Given the description of an element on the screen output the (x, y) to click on. 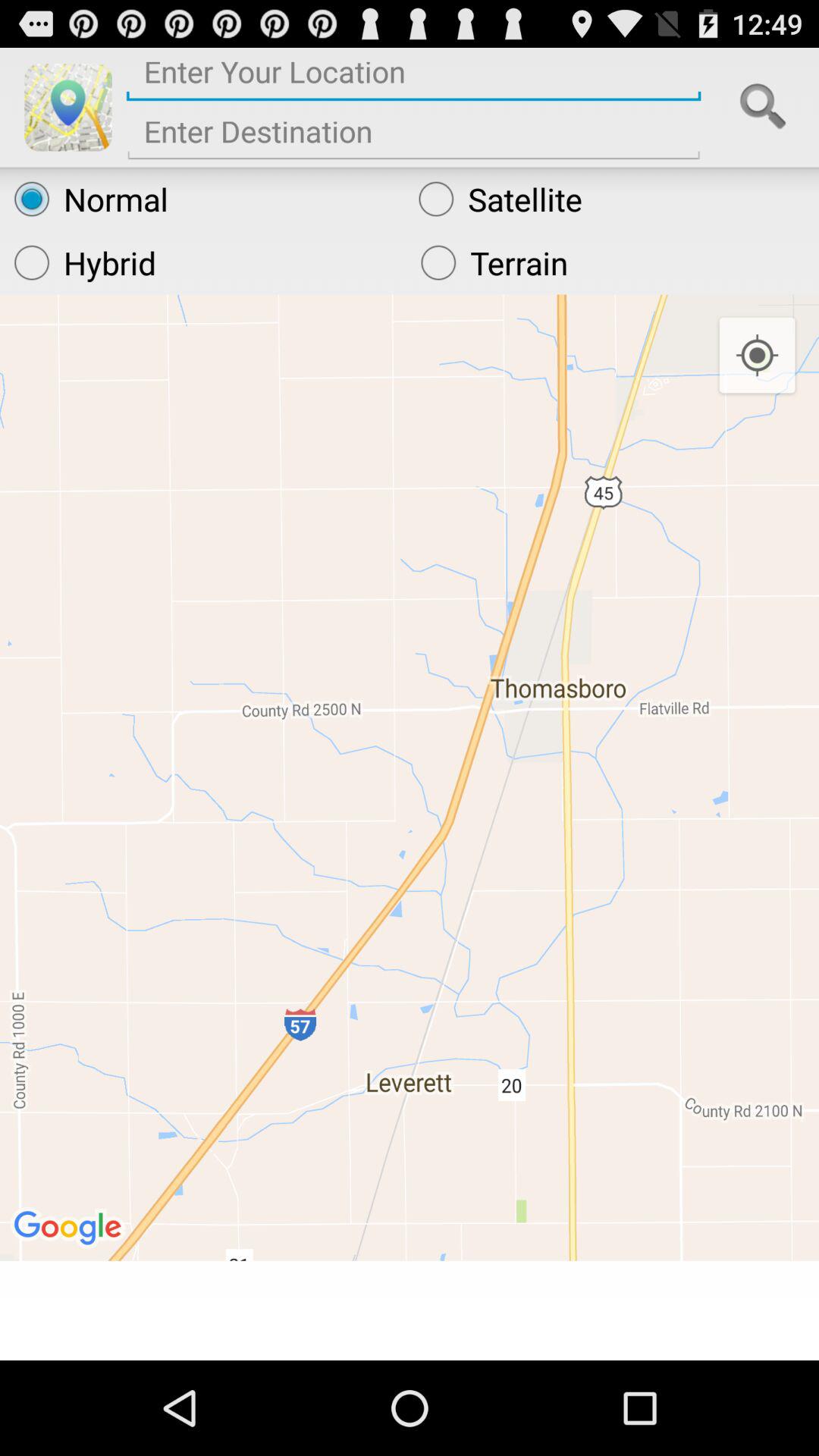
turn off the terrain (612, 262)
